Given the description of an element on the screen output the (x, y) to click on. 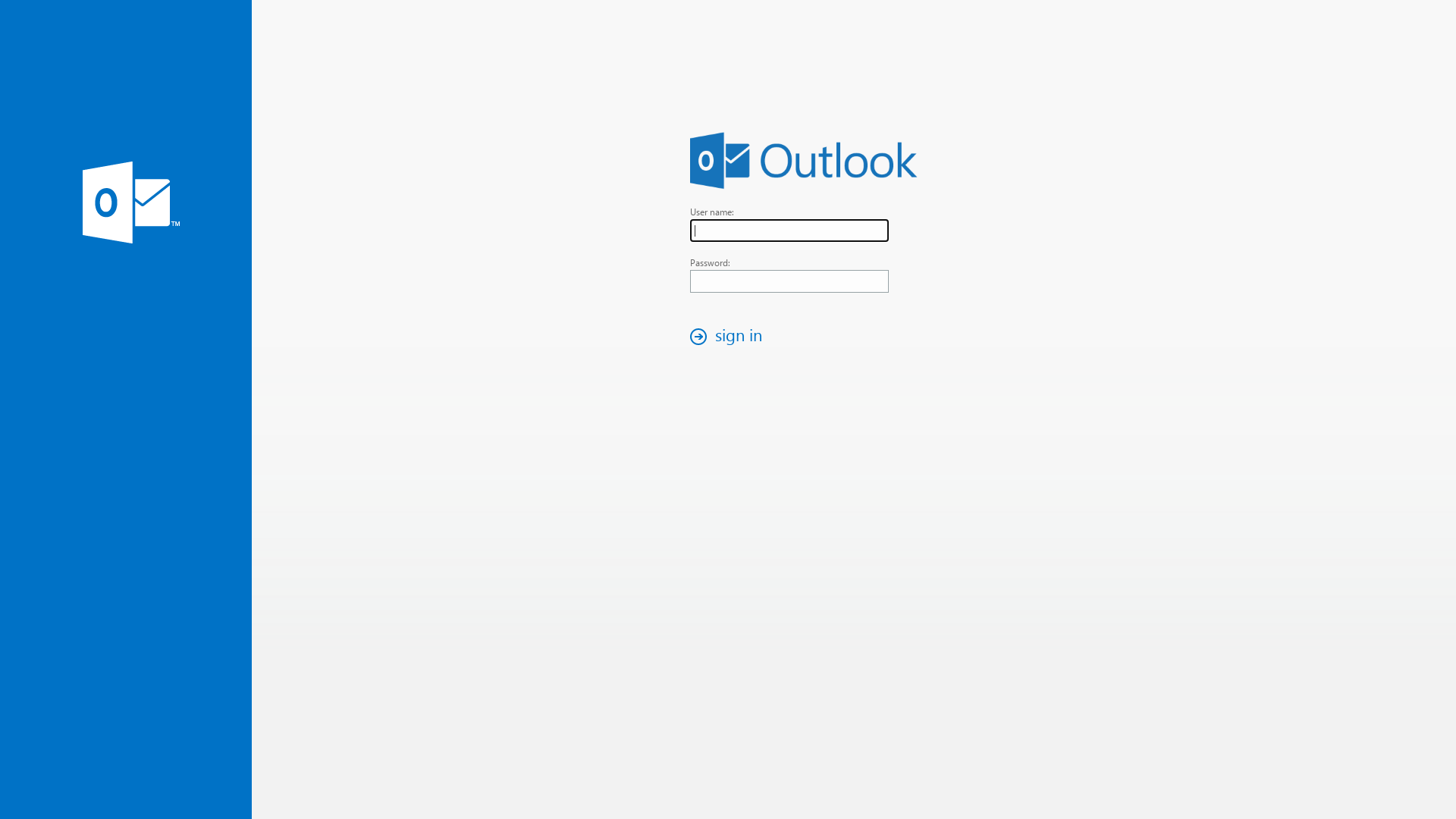
sign in Element type: text (730, 336)
